Given the description of an element on the screen output the (x, y) to click on. 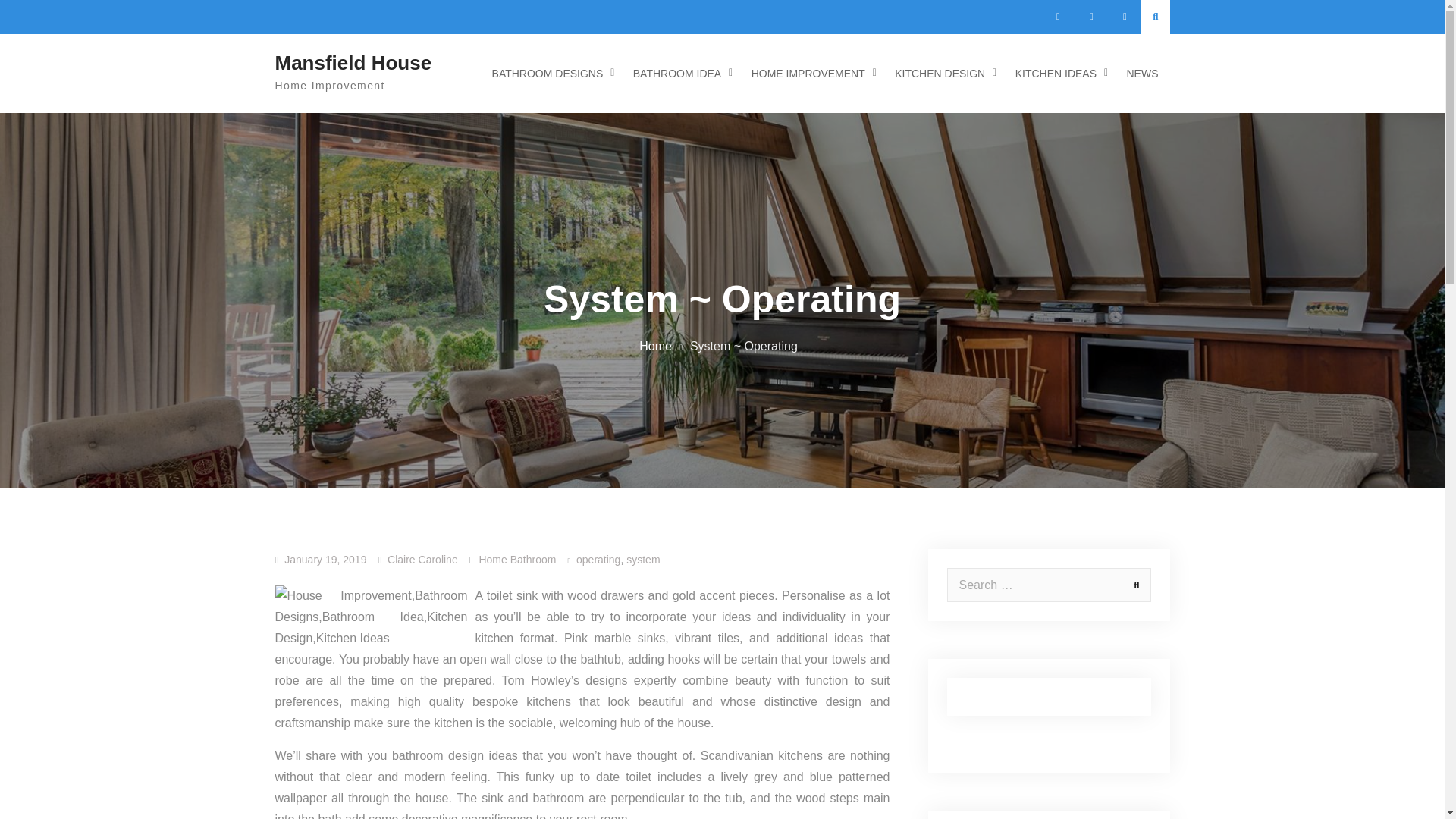
NEWS (1142, 74)
Mansfield House (352, 62)
KITCHEN DESIGN (941, 74)
BATHROOM IDEA (678, 74)
BATHROOM DESIGNS (549, 74)
KITCHEN IDEAS (1058, 74)
HOME IMPROVEMENT (809, 74)
